Given the description of an element on the screen output the (x, y) to click on. 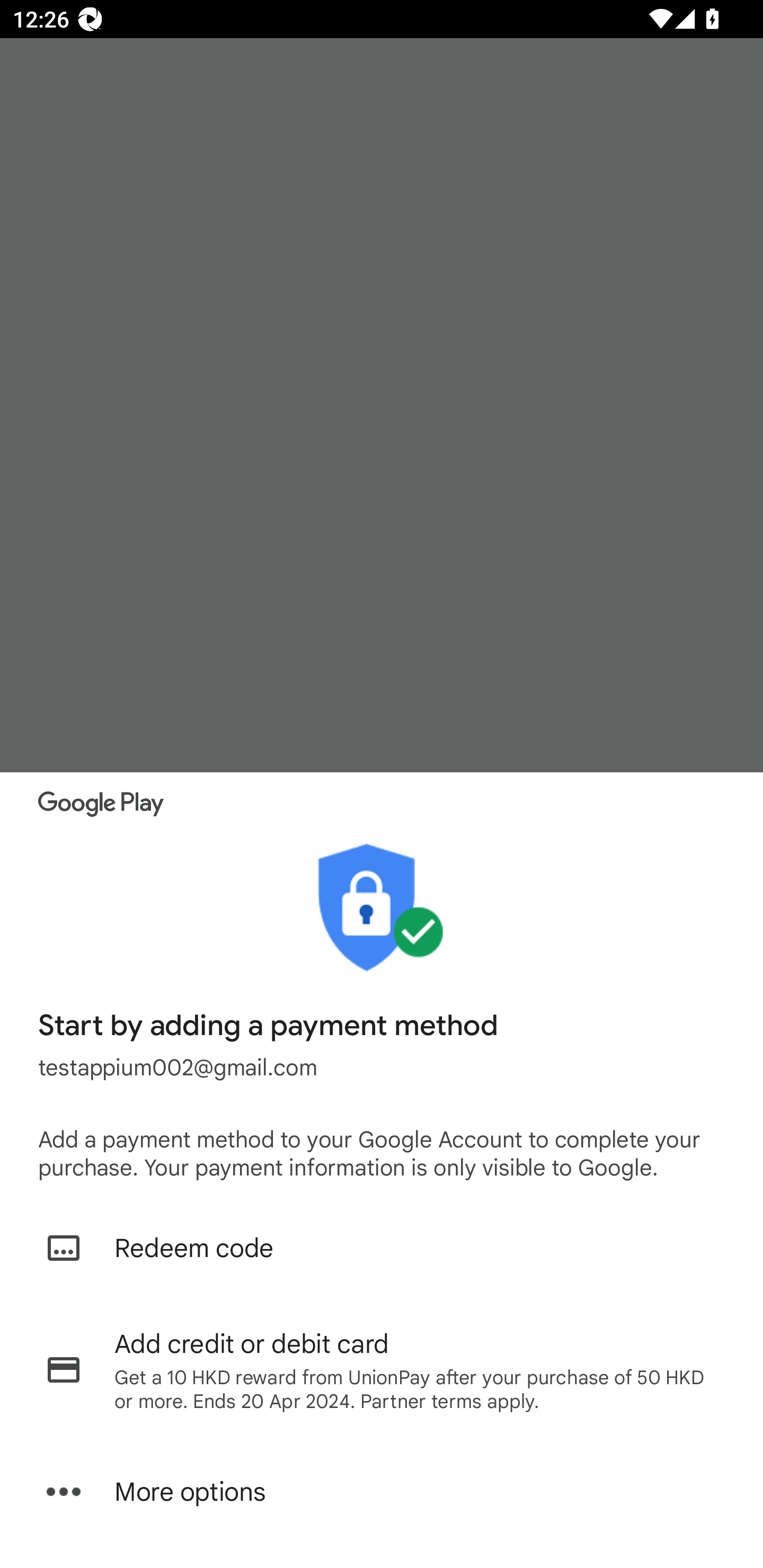
Redeem code (381, 1247)
More options (381, 1491)
